Given the description of an element on the screen output the (x, y) to click on. 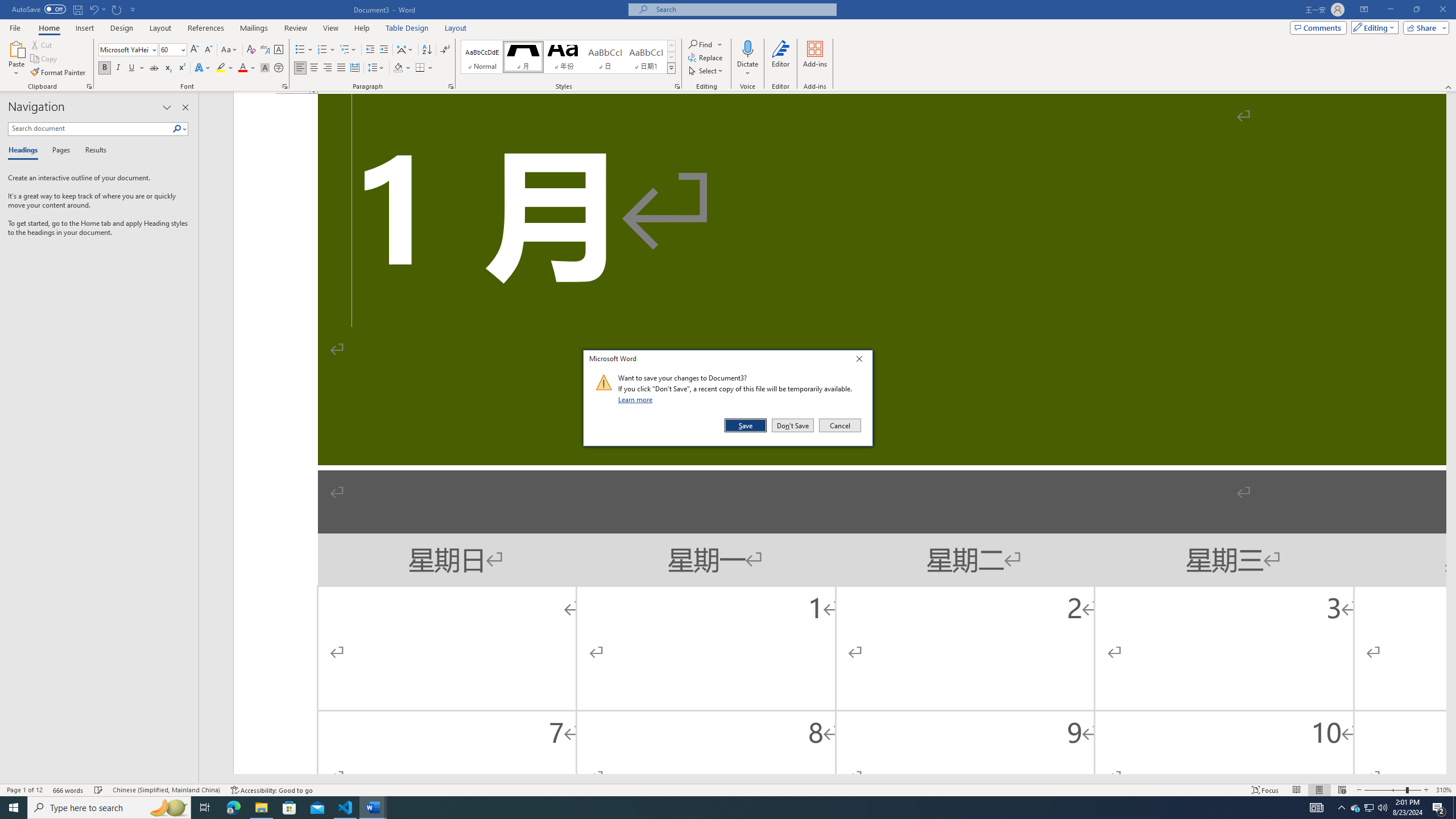
Show desktop (1454, 807)
Justify (340, 67)
Italic (118, 67)
Editor (780, 58)
Learn more (636, 399)
Multilevel List (347, 49)
Shading (402, 67)
